Given the description of an element on the screen output the (x, y) to click on. 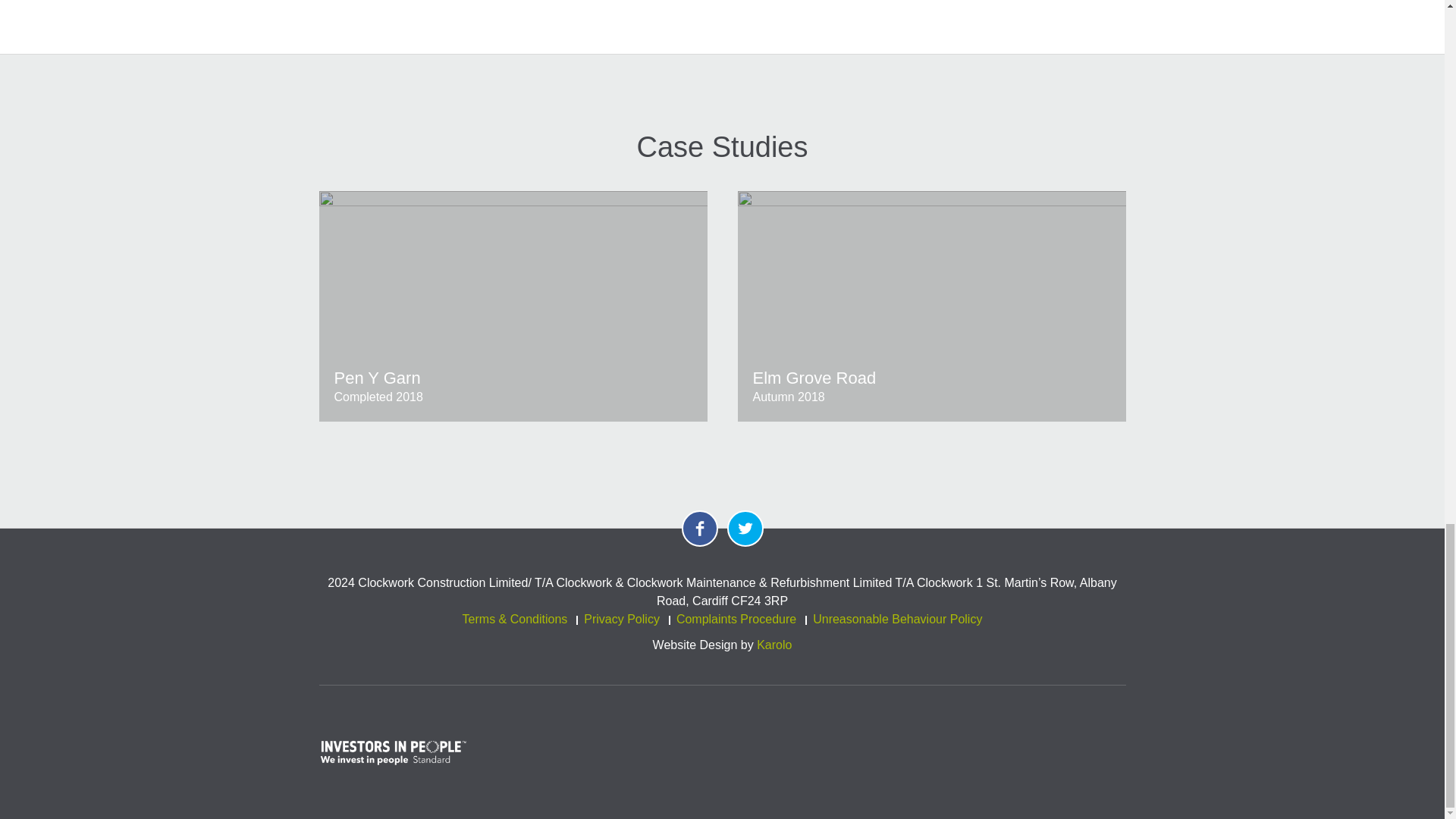
Follow us on Twitter (744, 528)
Like us on Facebook (699, 528)
